Given the description of an element on the screen output the (x, y) to click on. 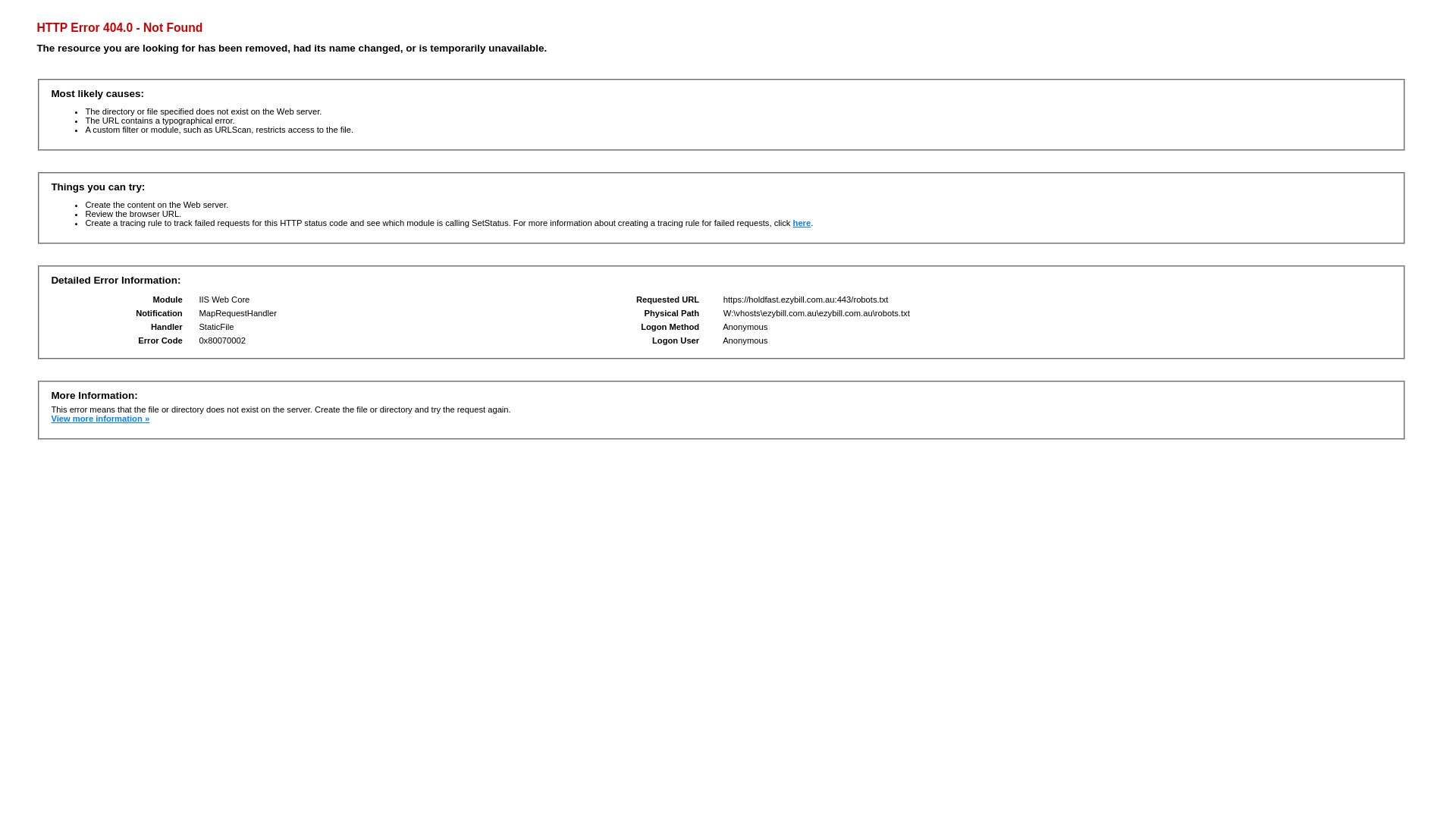
here Element type: text (802, 222)
